Given the description of an element on the screen output the (x, y) to click on. 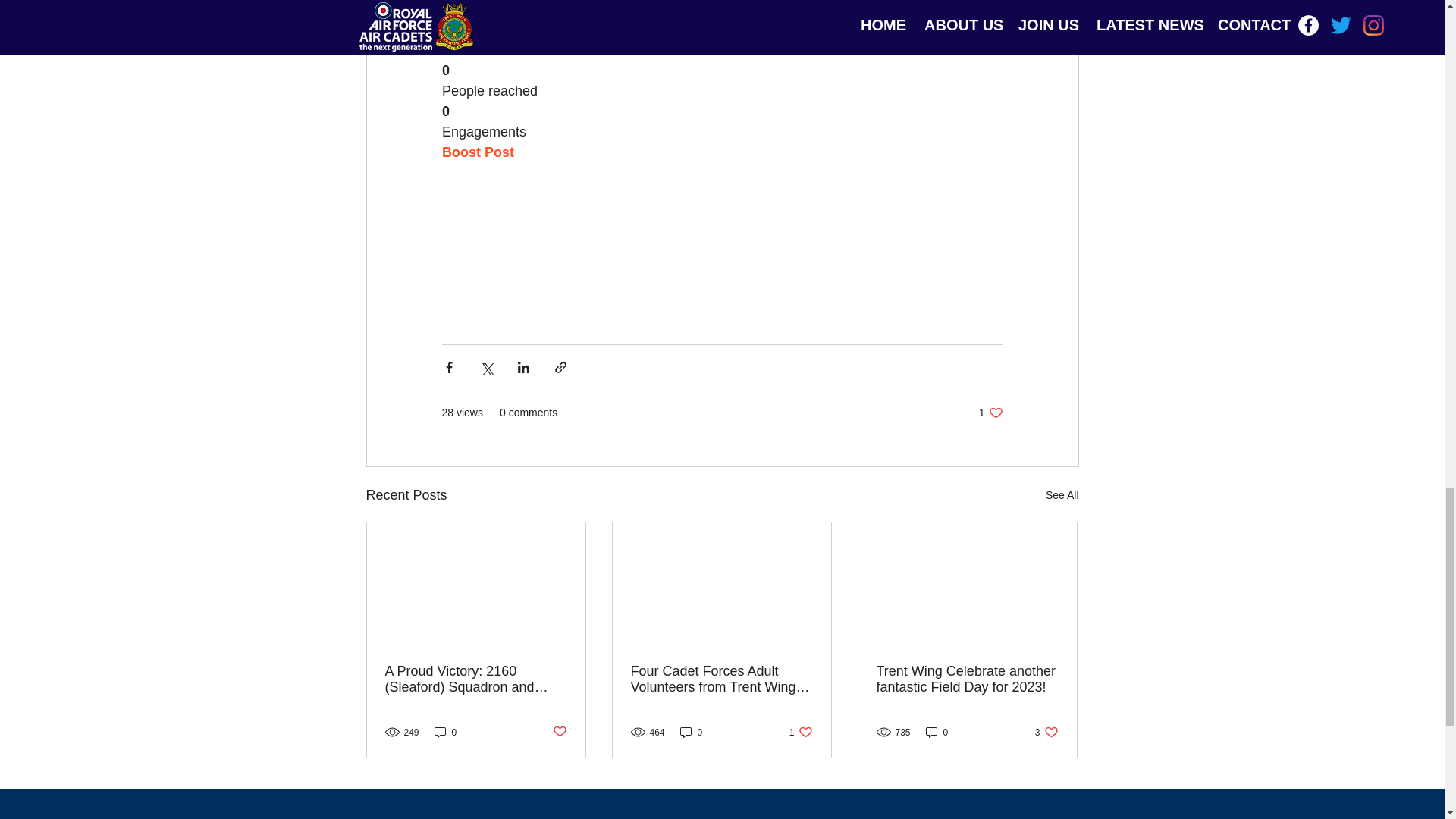
Trent Wing Celebrate another fantastic Field Day for 2023! (800, 731)
Boost Post (967, 679)
0 (477, 151)
0 (937, 731)
Post not marked as liked (1046, 731)
0 (445, 731)
See All (558, 731)
